Given the description of an element on the screen output the (x, y) to click on. 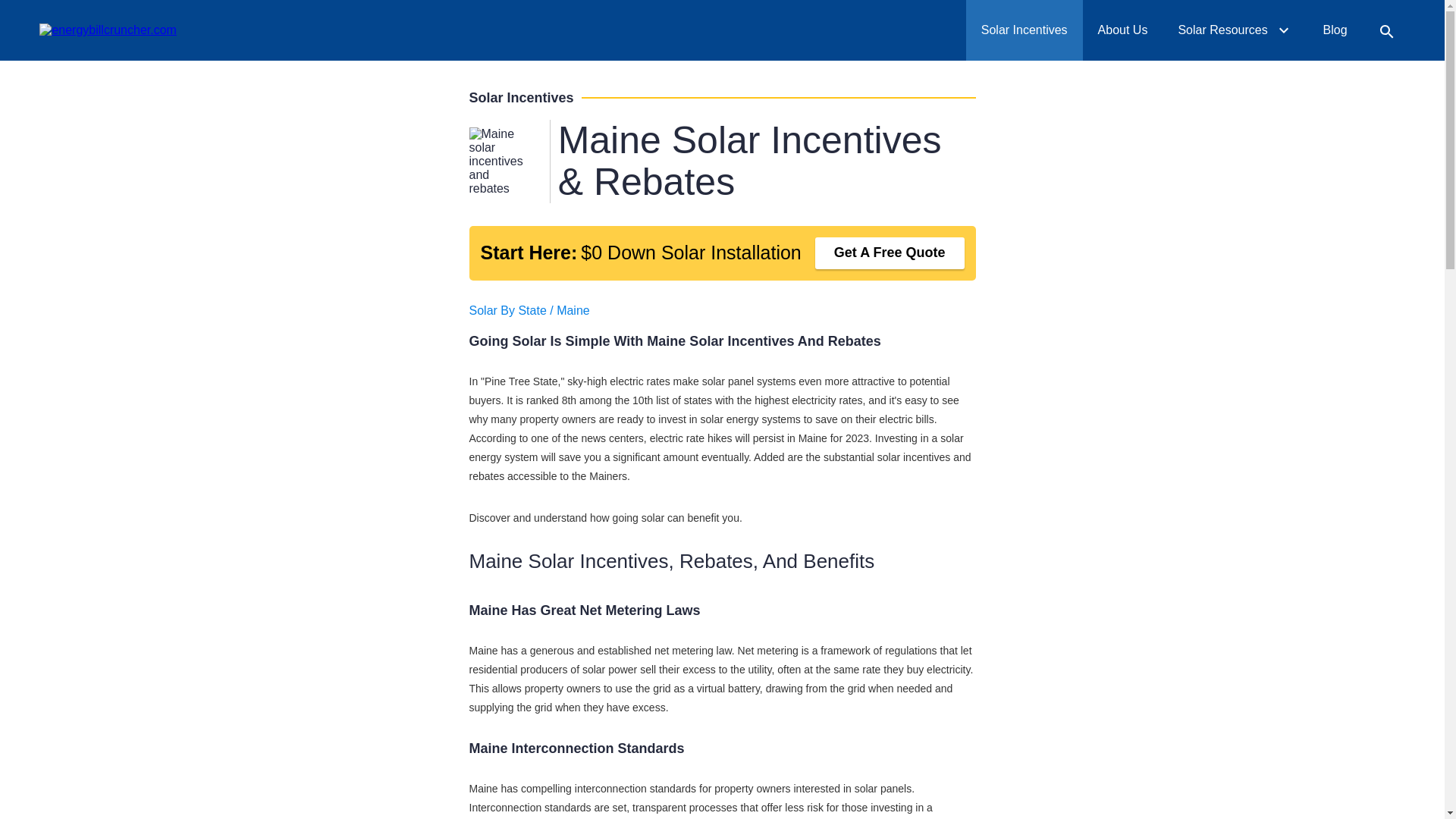
Solar Resources   (1234, 30)
Solar By State (507, 309)
Get A Free Quote (889, 253)
Blog (1334, 30)
Solar Incentives (1024, 30)
About Us (1123, 30)
Get A Free Quote (849, 19)
